Given the description of an element on the screen output the (x, y) to click on. 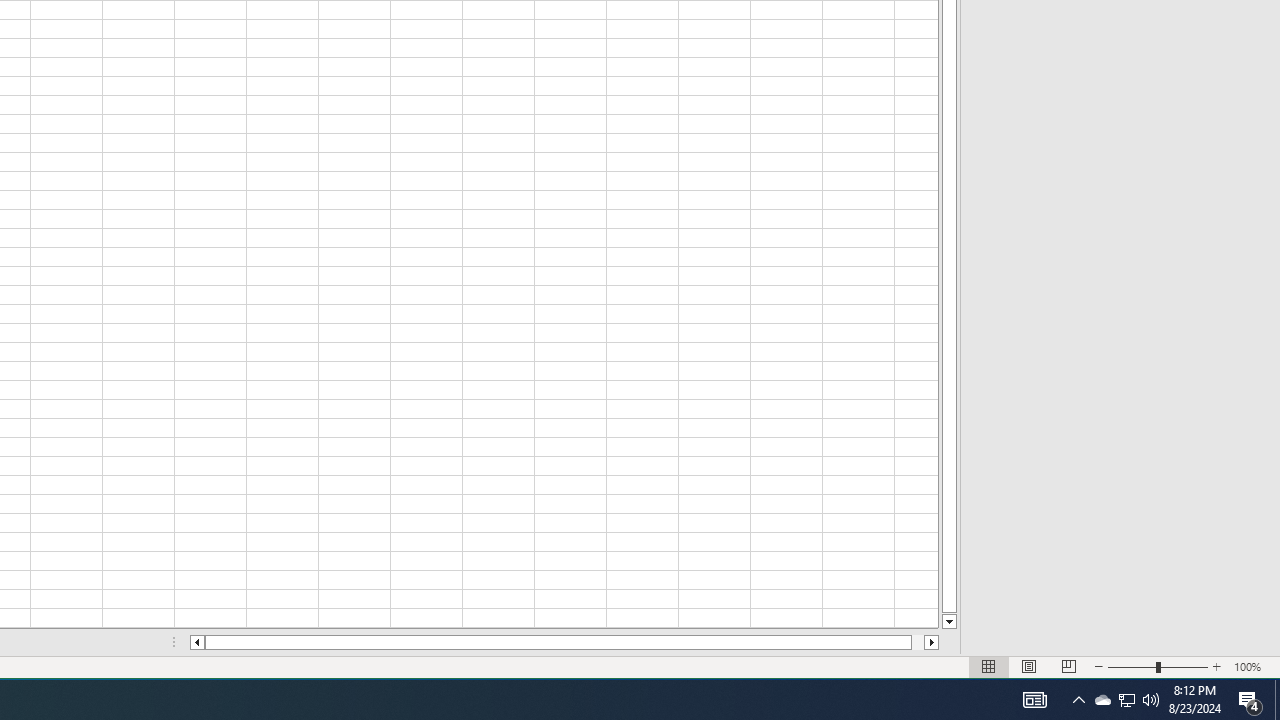
Q2790: 100% (1126, 699)
AutomationID: 4105 (1151, 699)
User Promoted Notification Area (1034, 699)
Notification Chevron (1126, 699)
